Given the description of an element on the screen output the (x, y) to click on. 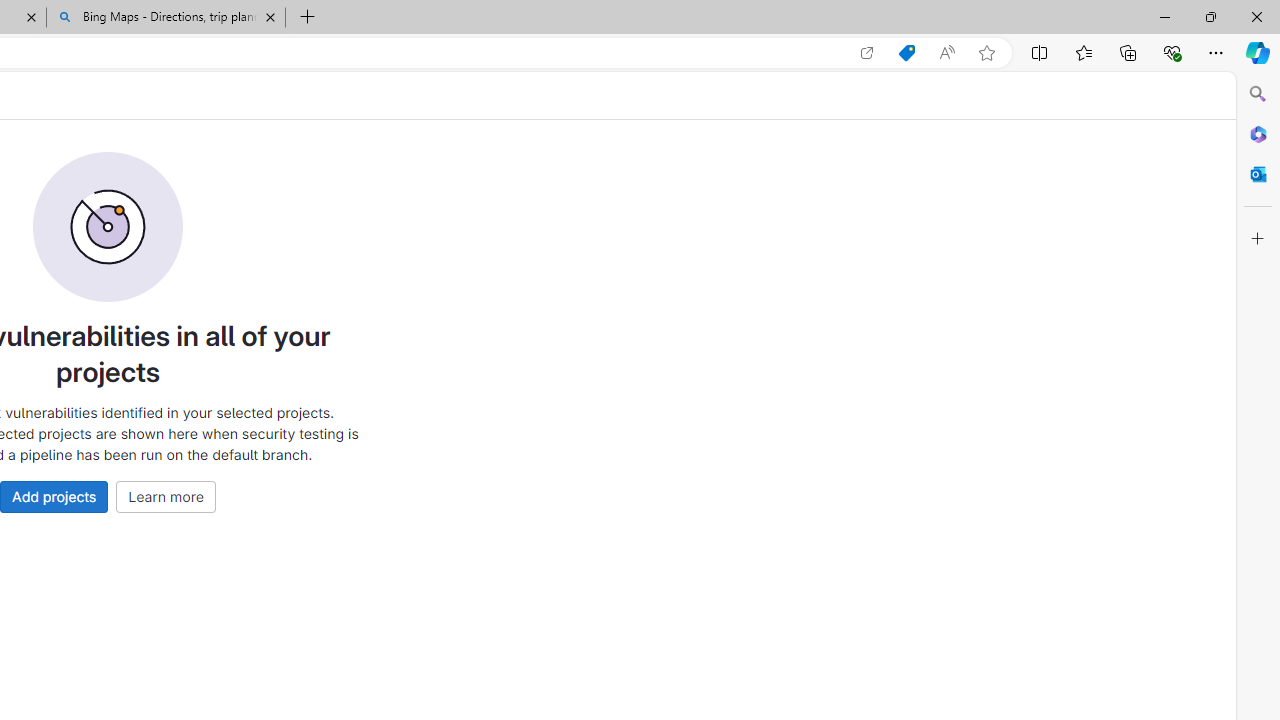
Customize (1258, 239)
Open in app (867, 53)
Browser essentials (1171, 52)
Search (1258, 94)
Add this page to favorites (Ctrl+D) (986, 53)
Split screen (1039, 52)
New Tab (308, 17)
Close (1256, 16)
Add projects (54, 496)
Outlook (1258, 174)
Favorites (1083, 52)
Read aloud this page (Ctrl+Shift+U) (946, 53)
